Given the description of an element on the screen output the (x, y) to click on. 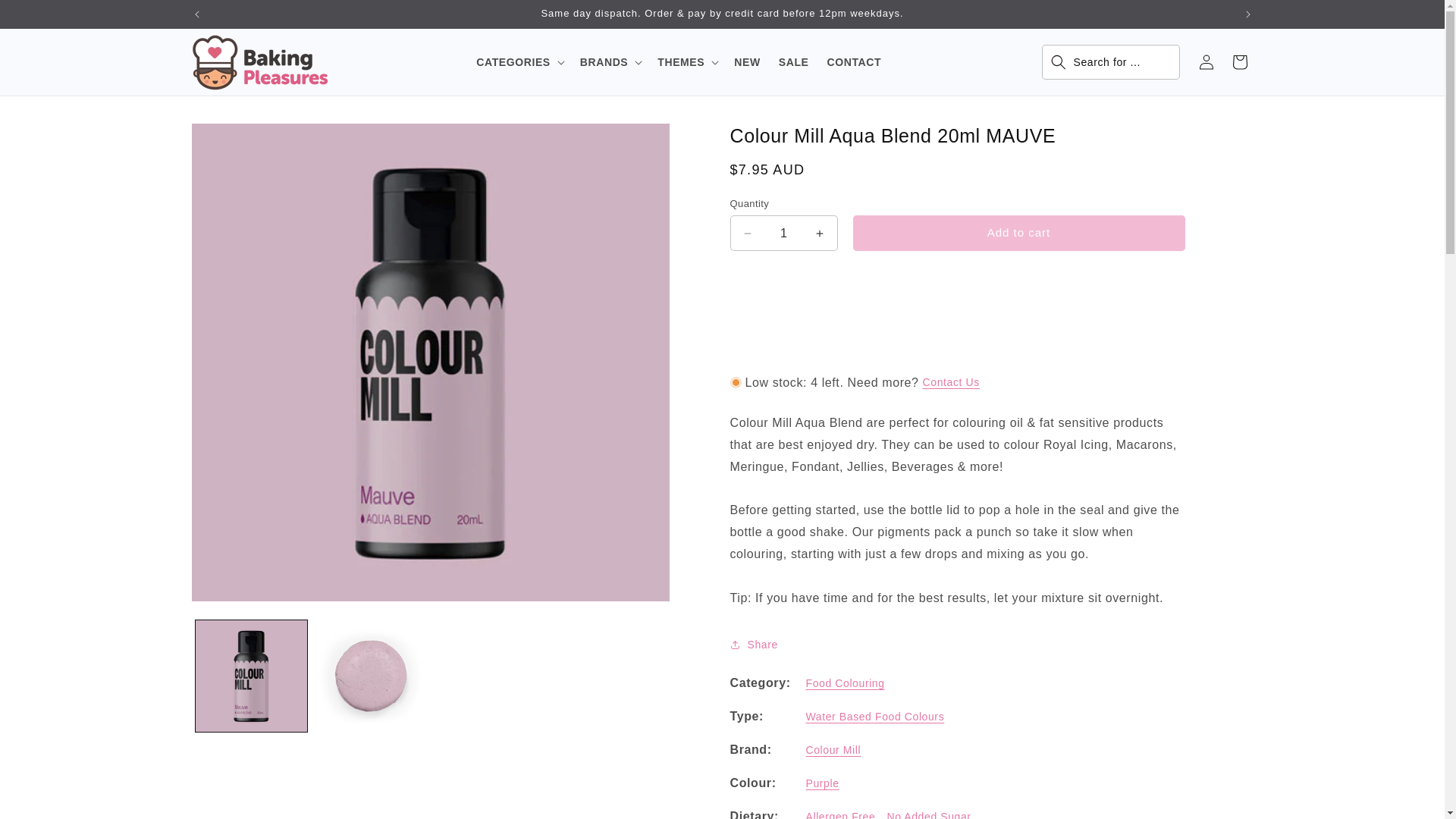
1 (783, 232)
Skip to content (45, 17)
